Given the description of an element on the screen output the (x, y) to click on. 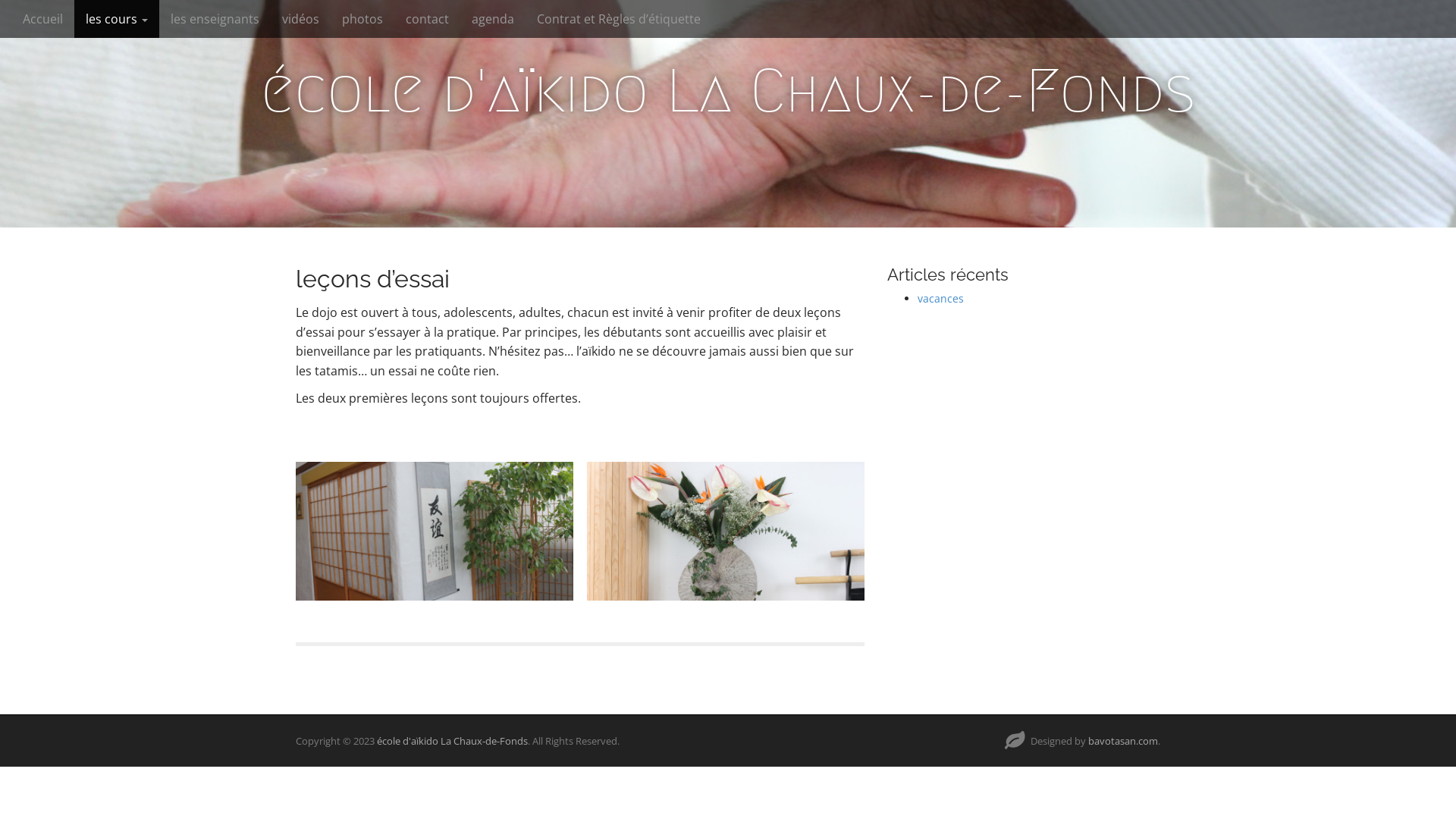
les enseignants Element type: text (214, 18)
Accueil Element type: text (42, 18)
vacances Element type: text (940, 298)
bavotasan.com Element type: text (1122, 740)
agenda Element type: text (492, 18)
photos Element type: text (362, 18)
contact Element type: text (427, 18)
les cours Element type: text (116, 18)
